Given the description of an element on the screen output the (x, y) to click on. 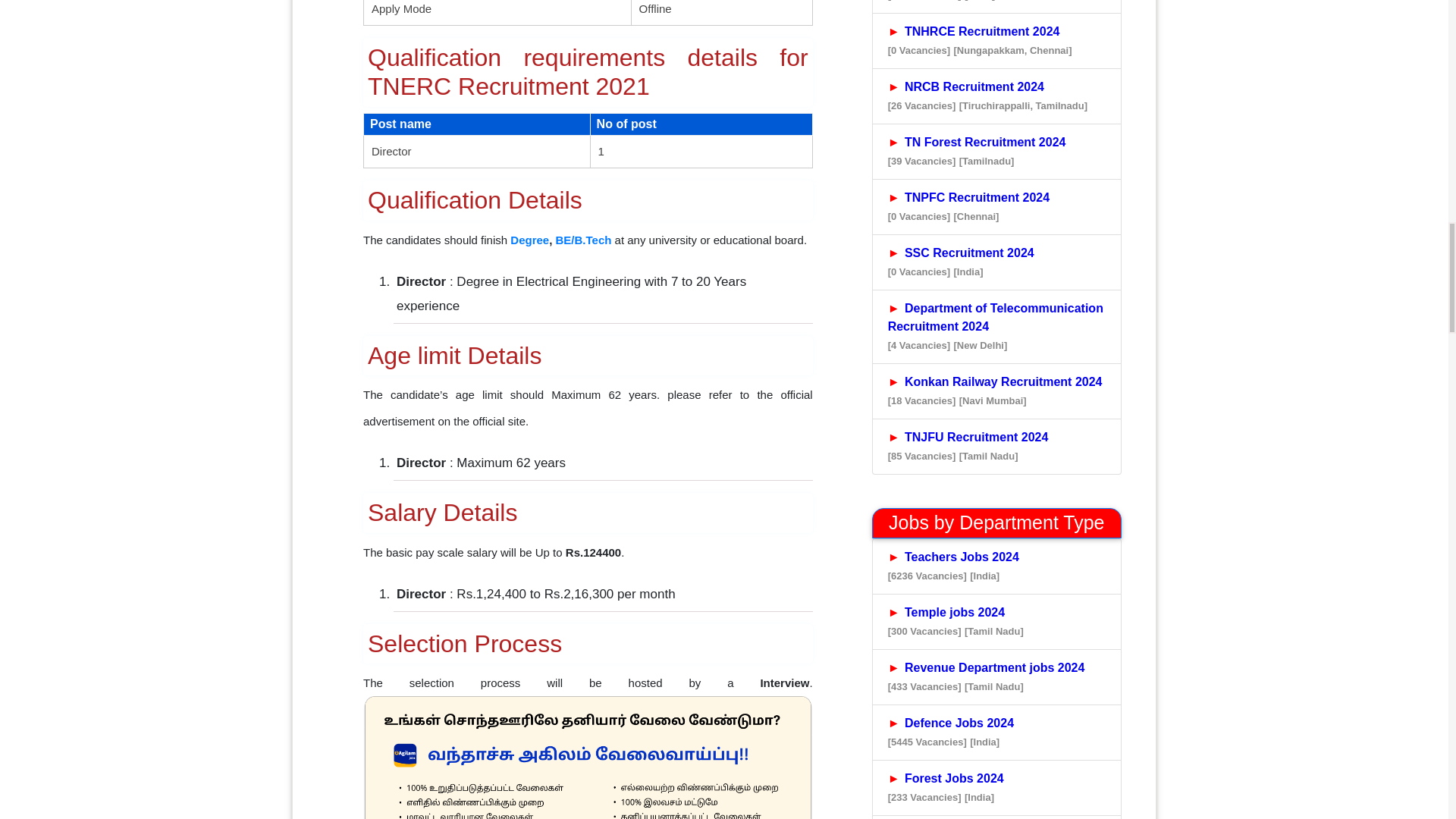
TNERC Recruitment 2021 - Various Director Vacancy (587, 757)
Degree (529, 239)
